Given the description of an element on the screen output the (x, y) to click on. 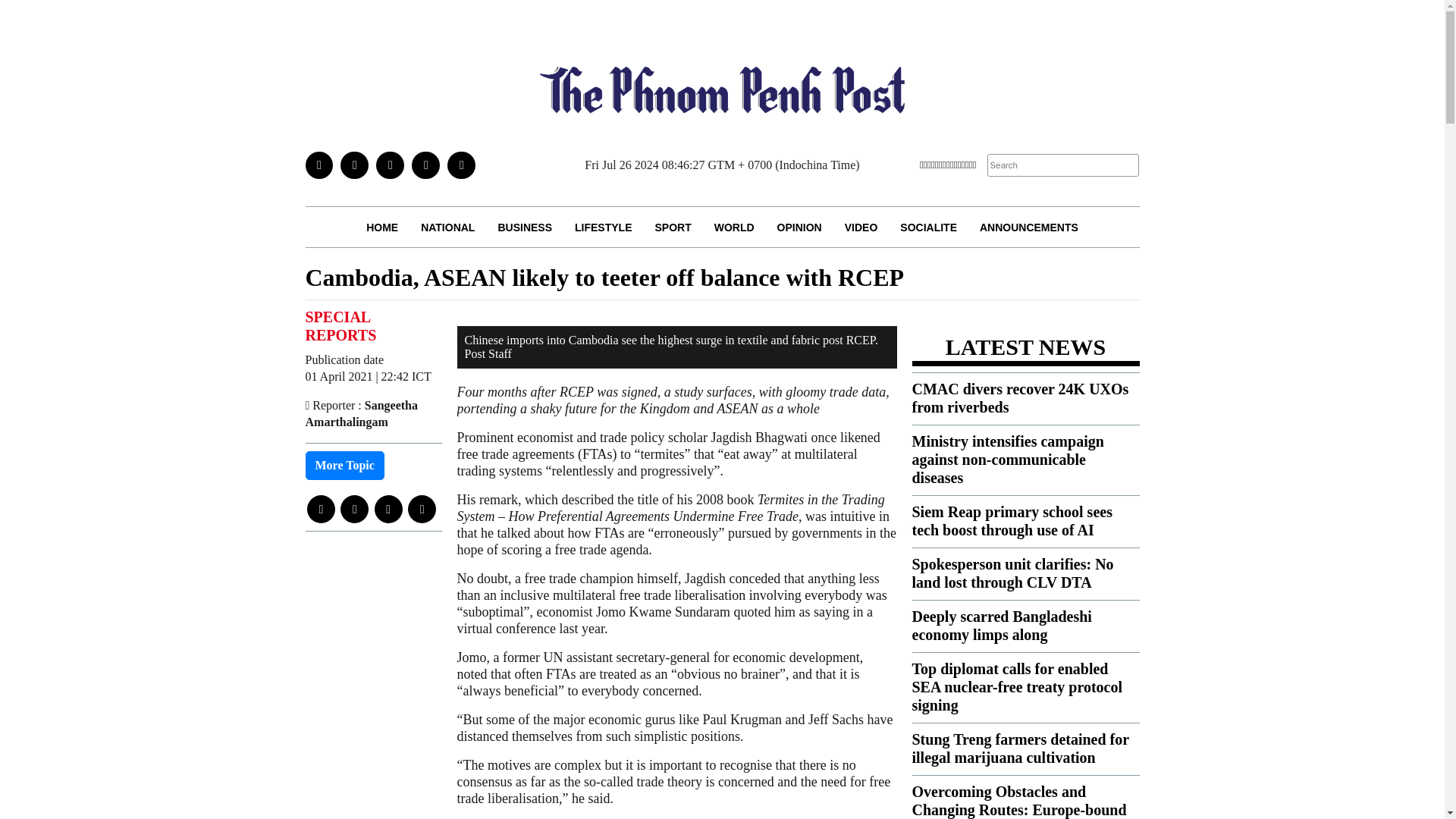
SOCIALITE (928, 227)
HOME (382, 227)
WORLD (734, 227)
NATIONAL (447, 227)
ANNOUNCEMENTS (1028, 227)
Siem Reap primary school sees tech boost through use of AI (1011, 520)
More Topic (344, 465)
Deeply scarred Bangladeshi economy limps along (1000, 625)
Spokesperson unit clarifies: No land lost through CLV DTA (1012, 573)
BUSINESS (524, 227)
LIFESTYLE (603, 227)
OPINION (798, 227)
